Given the description of an element on the screen output the (x, y) to click on. 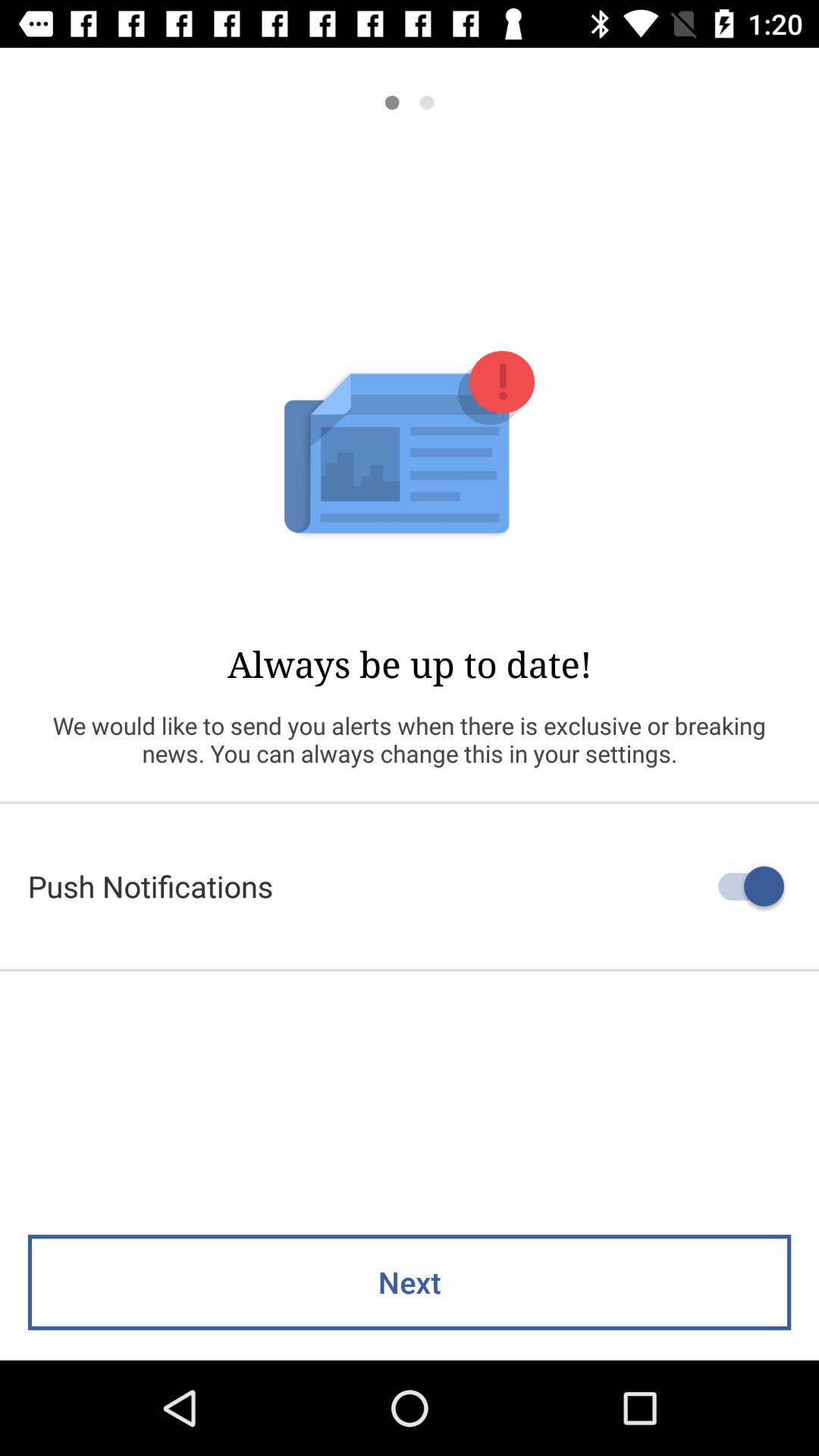
jump until the push notifications icon (409, 886)
